Given the description of an element on the screen output the (x, y) to click on. 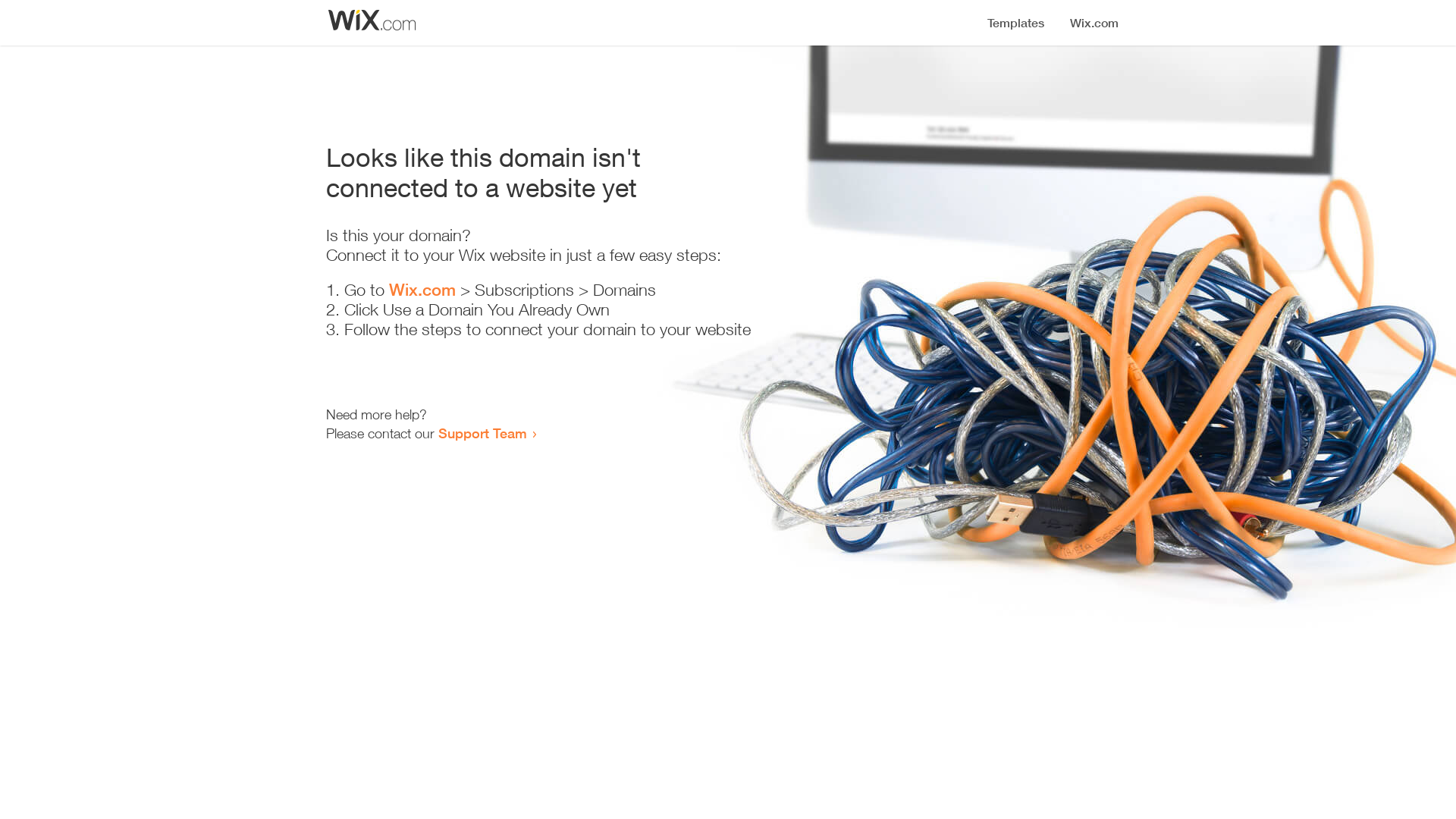
Support Team Element type: text (482, 432)
Wix.com Element type: text (422, 289)
